Given the description of an element on the screen output the (x, y) to click on. 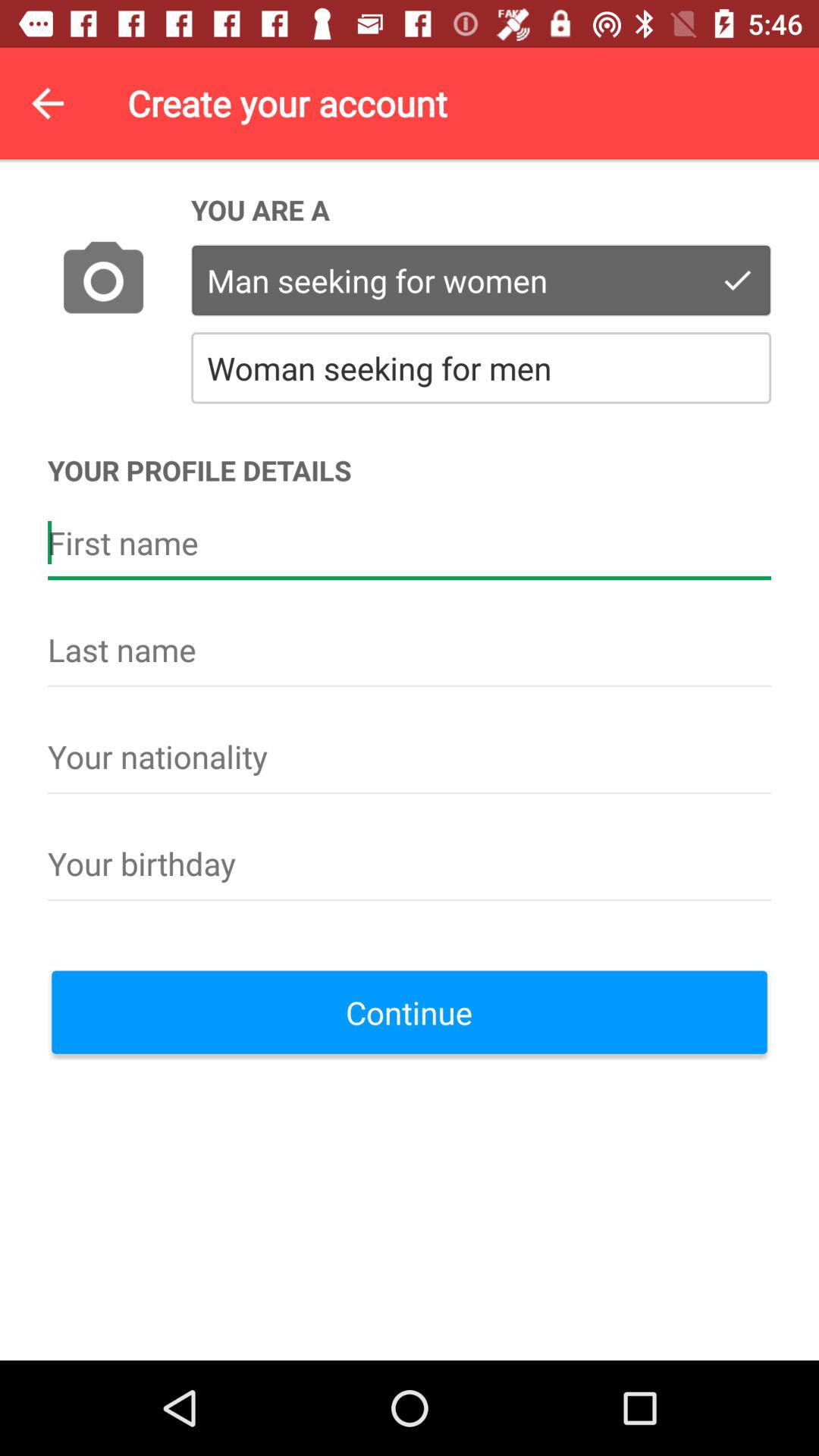
click the icon above the your profile details icon (103, 281)
